Given the description of an element on the screen output the (x, y) to click on. 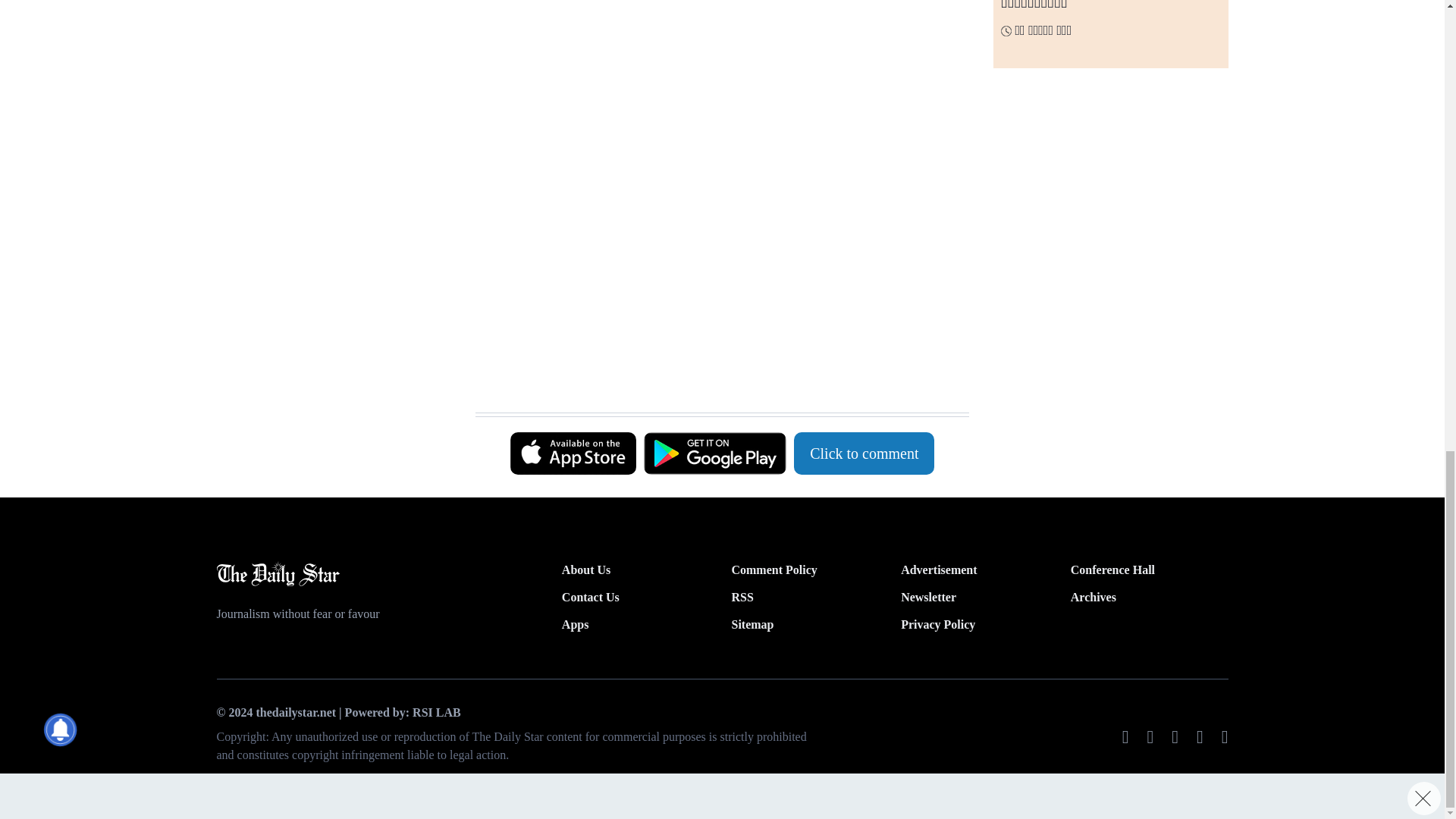
3rd party ad content (713, 234)
3rd party ad content (714, 374)
3rd party ad content (332, 57)
3rd party ad content (713, 62)
